Given the description of an element on the screen output the (x, y) to click on. 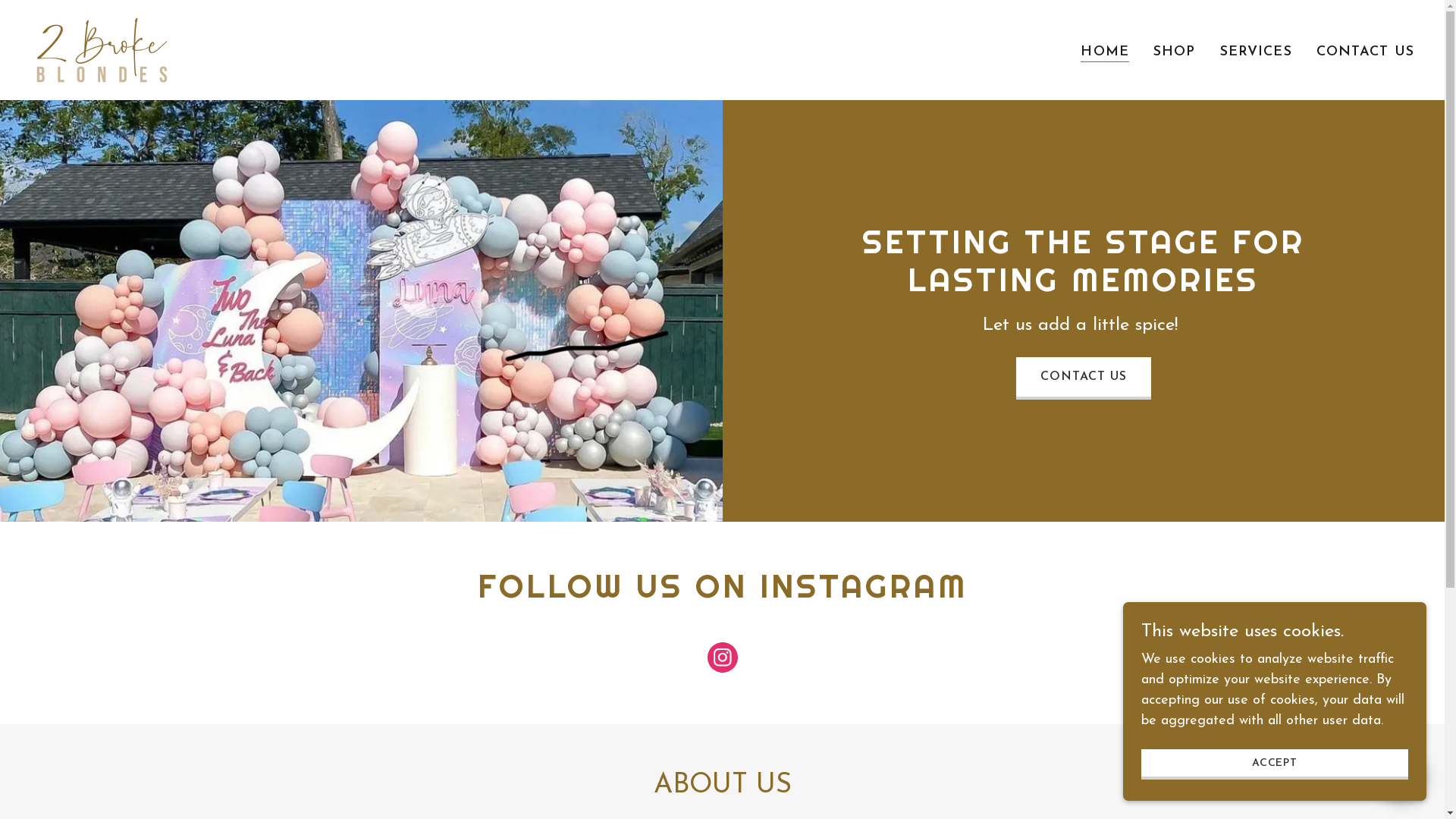
ACCEPT Element type: text (1274, 764)
SERVICES Element type: text (1255, 51)
SHOP Element type: text (1174, 51)
2 BROKE BLONDES Element type: hover (101, 48)
HOME Element type: text (1104, 51)
CONTACT US Element type: text (1083, 378)
CONTACT US Element type: text (1364, 51)
